Given the description of an element on the screen output the (x, y) to click on. 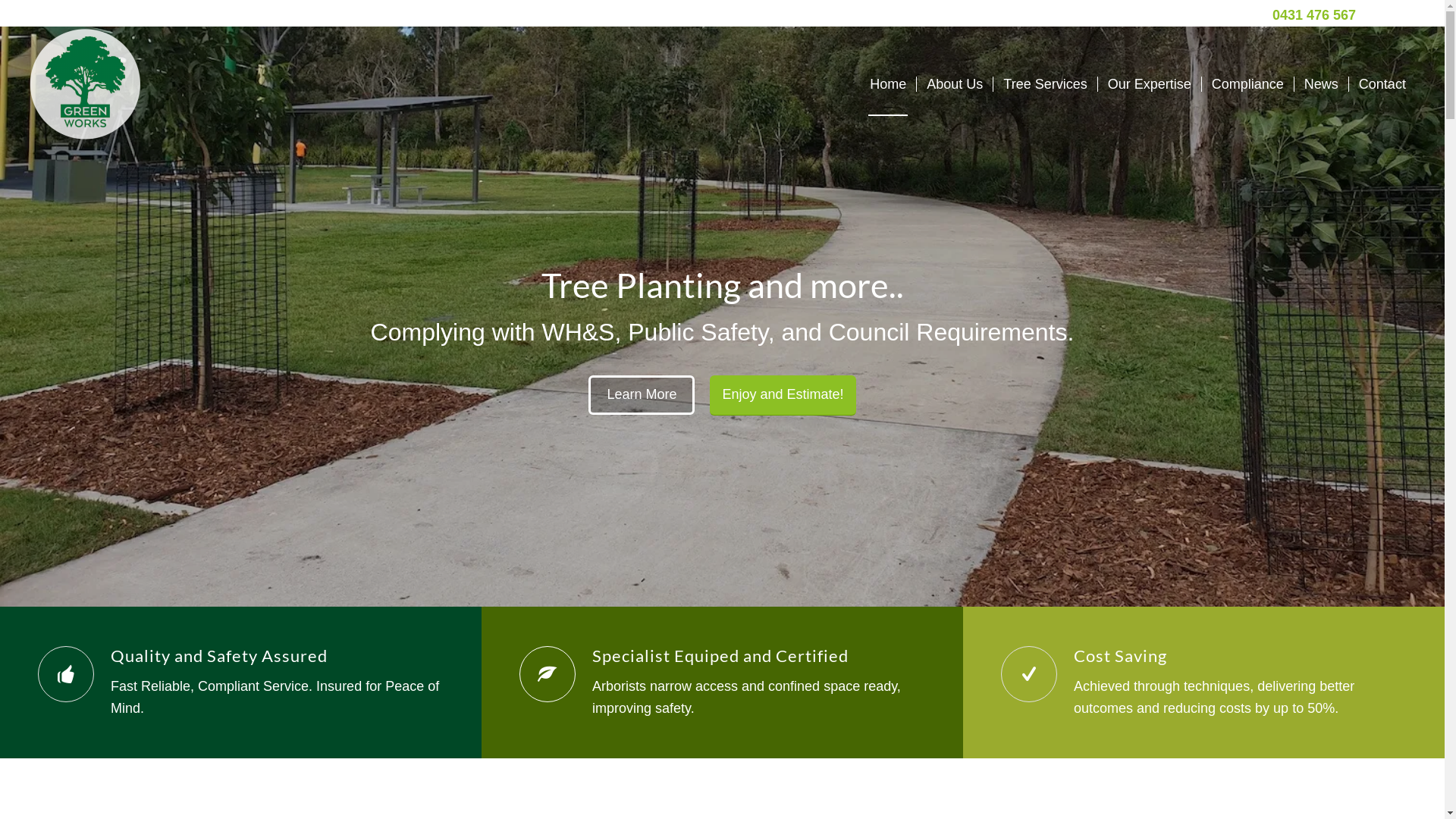
Home Element type: text (887, 84)
0431 476 567 Element type: text (1313, 14)
About Us Element type: text (954, 84)
Quality and Safety Assured Element type: text (218, 655)
Compliance Element type: text (1247, 84)
Specialist Equiped and Certified Element type: hover (547, 674)
Enjoy and Estimate! Element type: text (782, 395)
Quality and Safety Assured Element type: hover (65, 674)
Learn More Element type: text (641, 394)
News Element type: text (1320, 84)
Our Expertise Element type: text (1149, 84)
Cost Saving Element type: text (1120, 655)
Contact Element type: text (1381, 84)
Tree Services Element type: text (1044, 84)
Cost Saving Element type: hover (1029, 674)
Specialist Equiped and Certified Element type: text (720, 655)
